Given the description of an element on the screen output the (x, y) to click on. 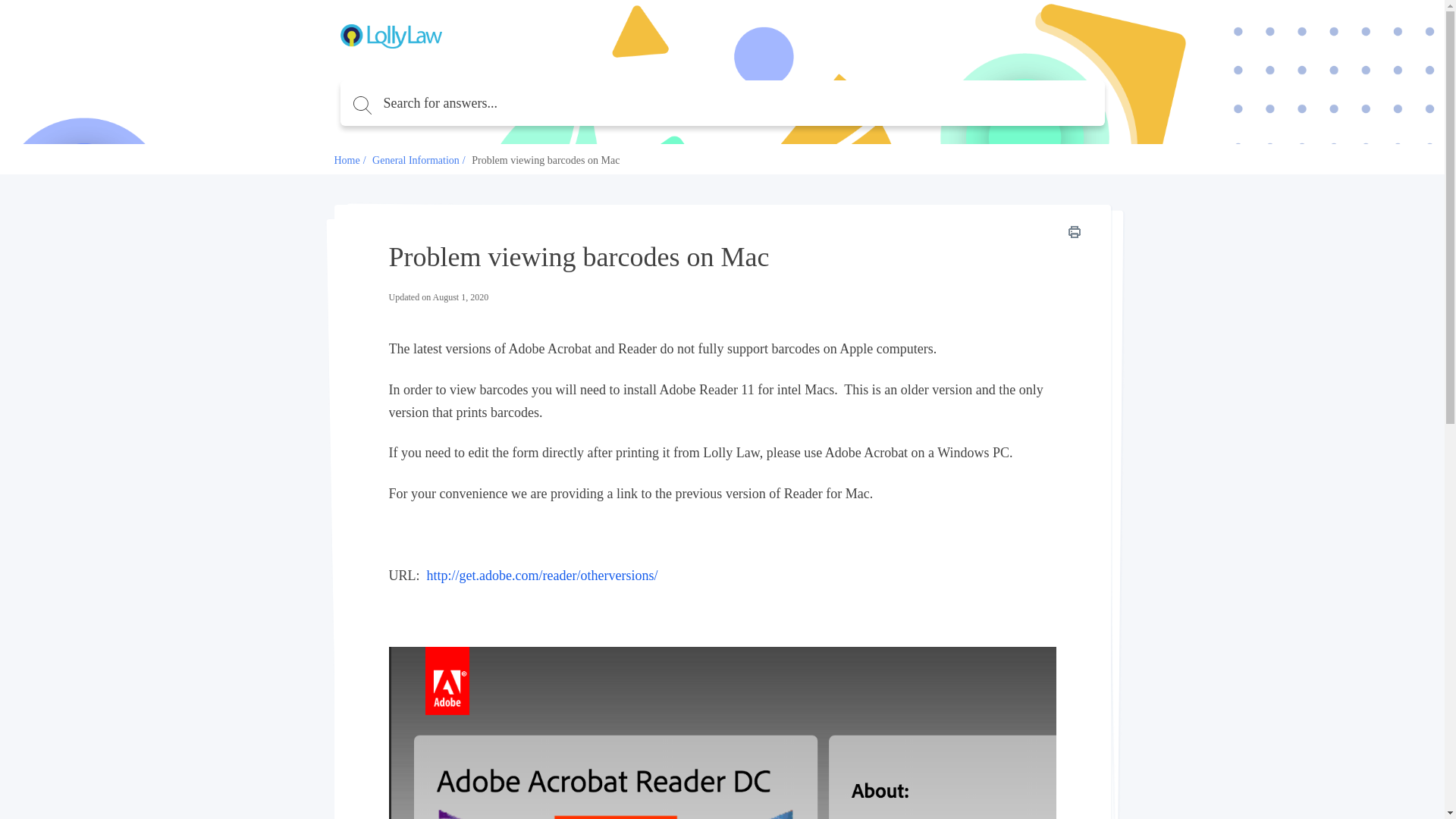
General Information (416, 160)
Home (346, 160)
